Given the description of an element on the screen output the (x, y) to click on. 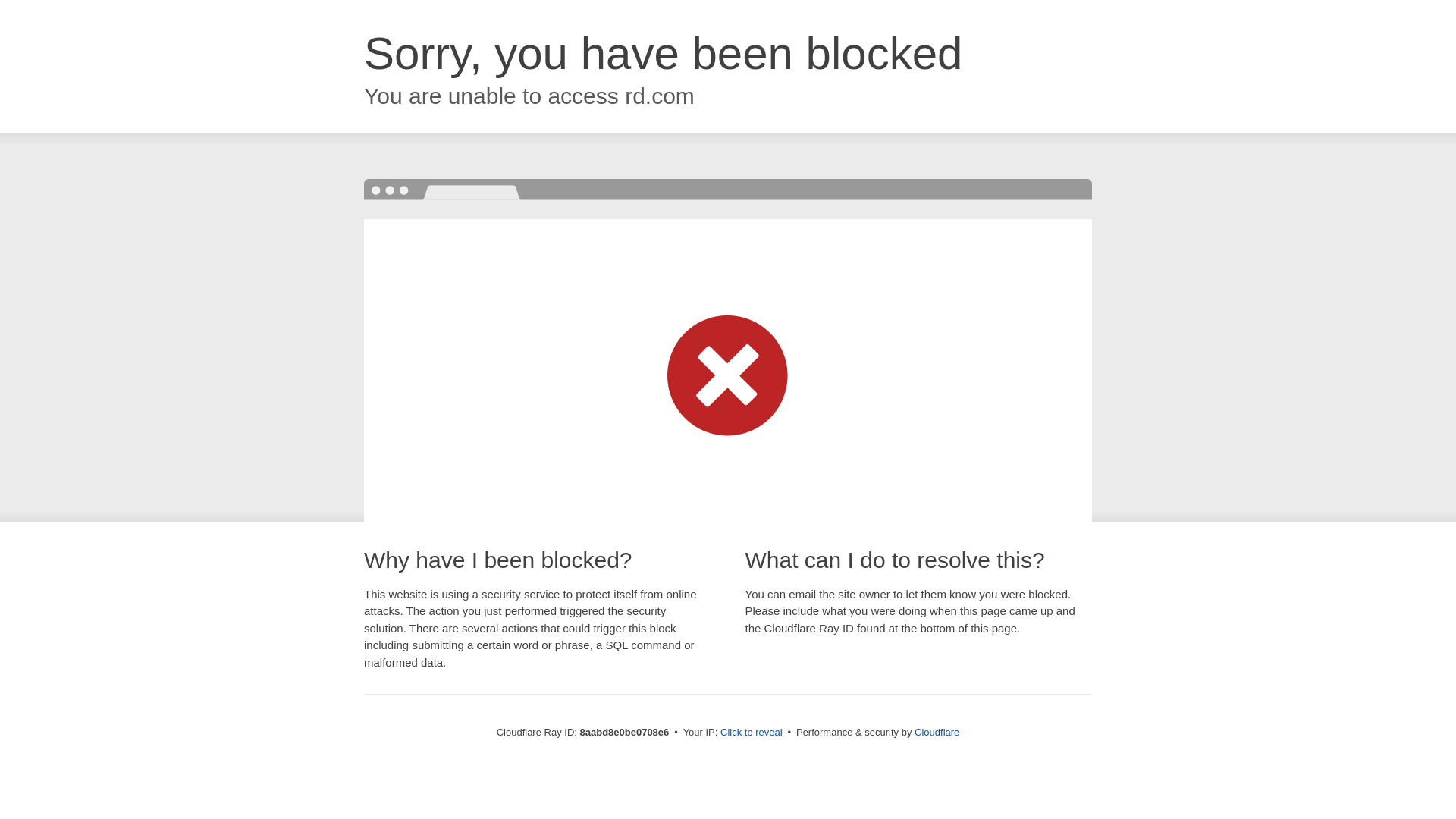
Cloudflare (936, 731)
Click to reveal (751, 732)
